Given the description of an element on the screen output the (x, y) to click on. 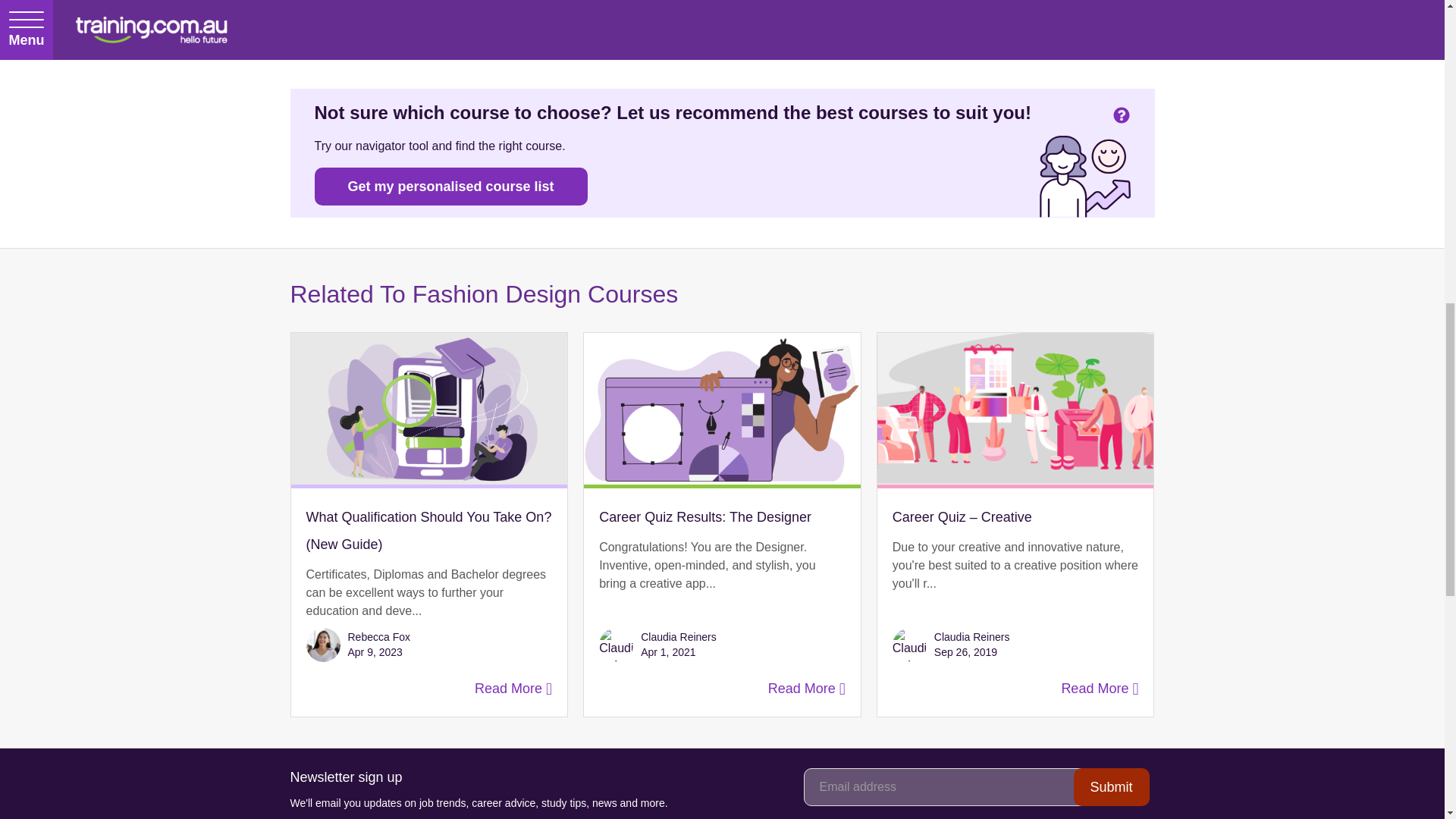
Submit (1112, 786)
